Given the description of an element on the screen output the (x, y) to click on. 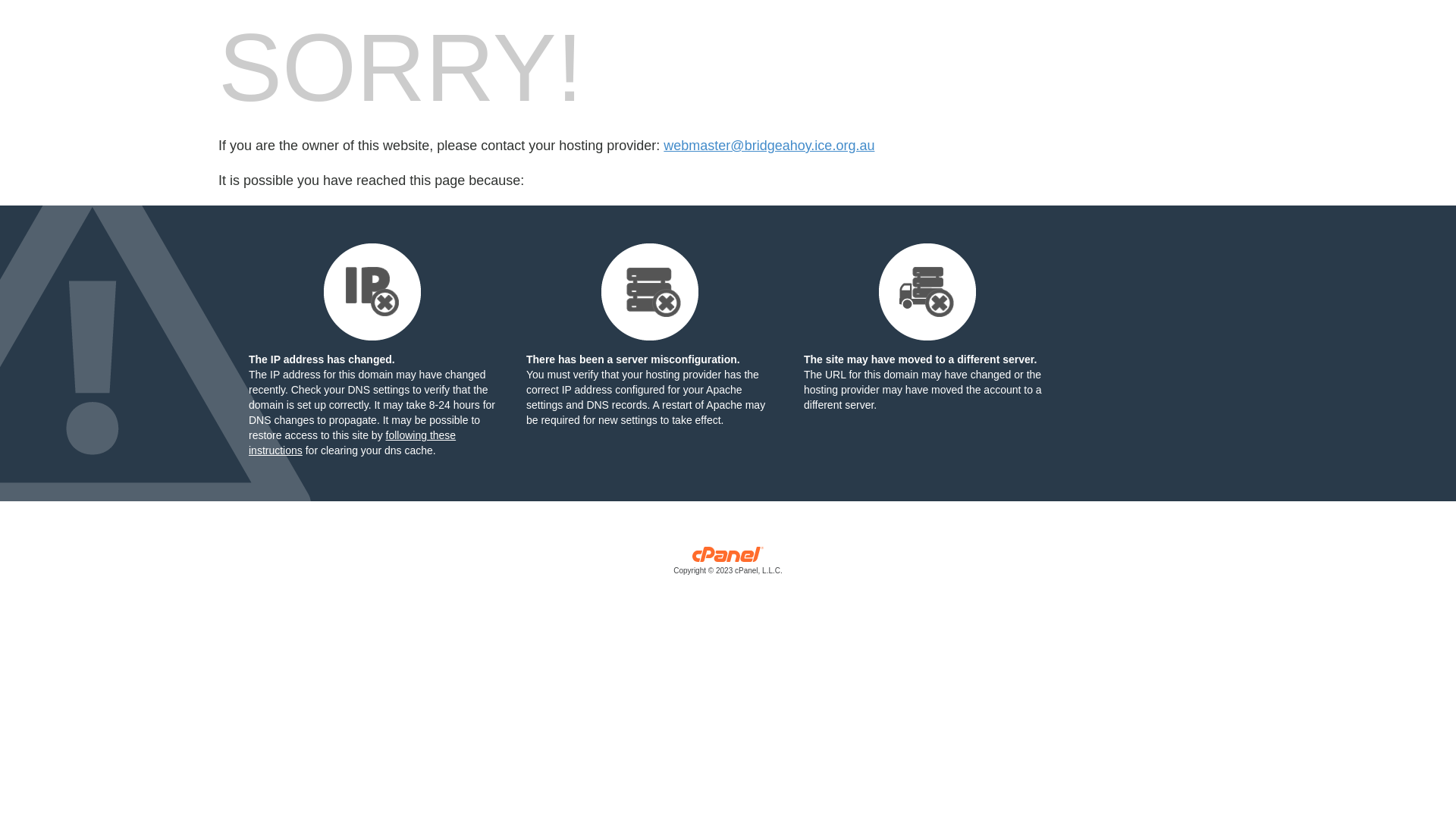
following these instructions Element type: text (351, 442)
webmaster@bridgeahoy.ice.org.au Element type: text (768, 145)
